Given the description of an element on the screen output the (x, y) to click on. 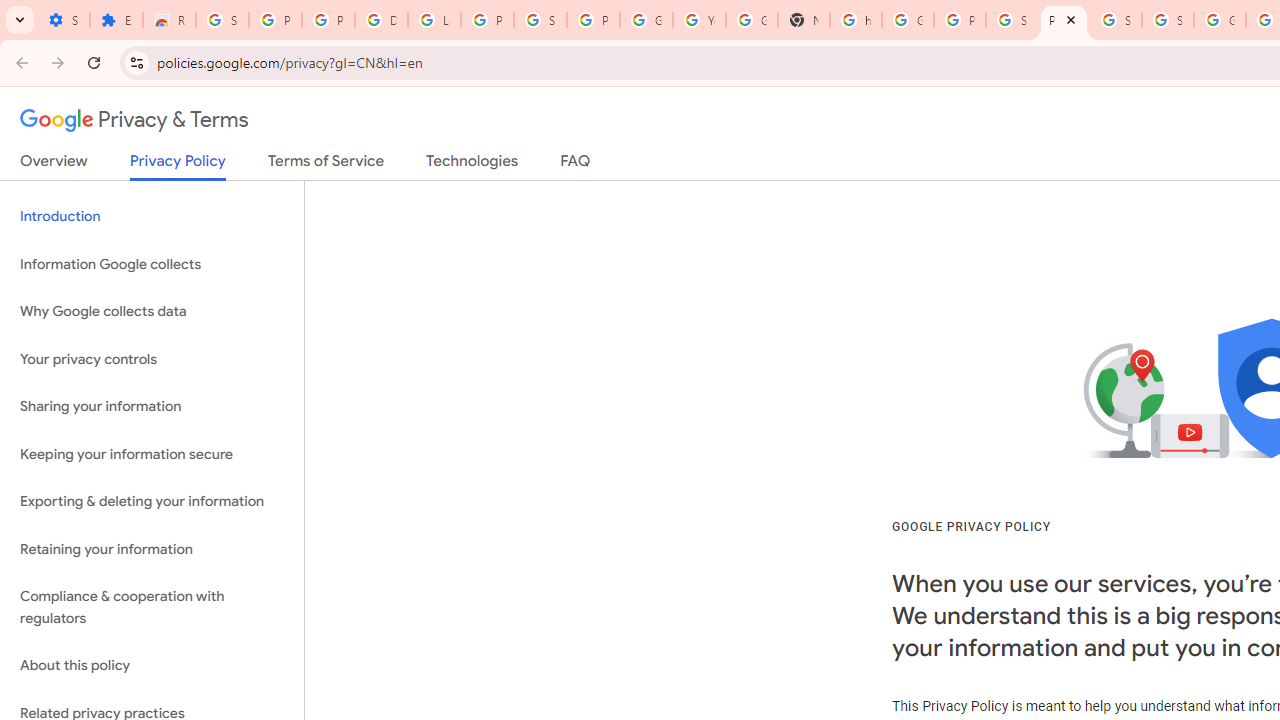
Delete photos & videos - Computer - Google Photos Help (381, 20)
https://scholar.google.com/ (855, 20)
Sign in - Google Accounts (540, 20)
